Given the description of an element on the screen output the (x, y) to click on. 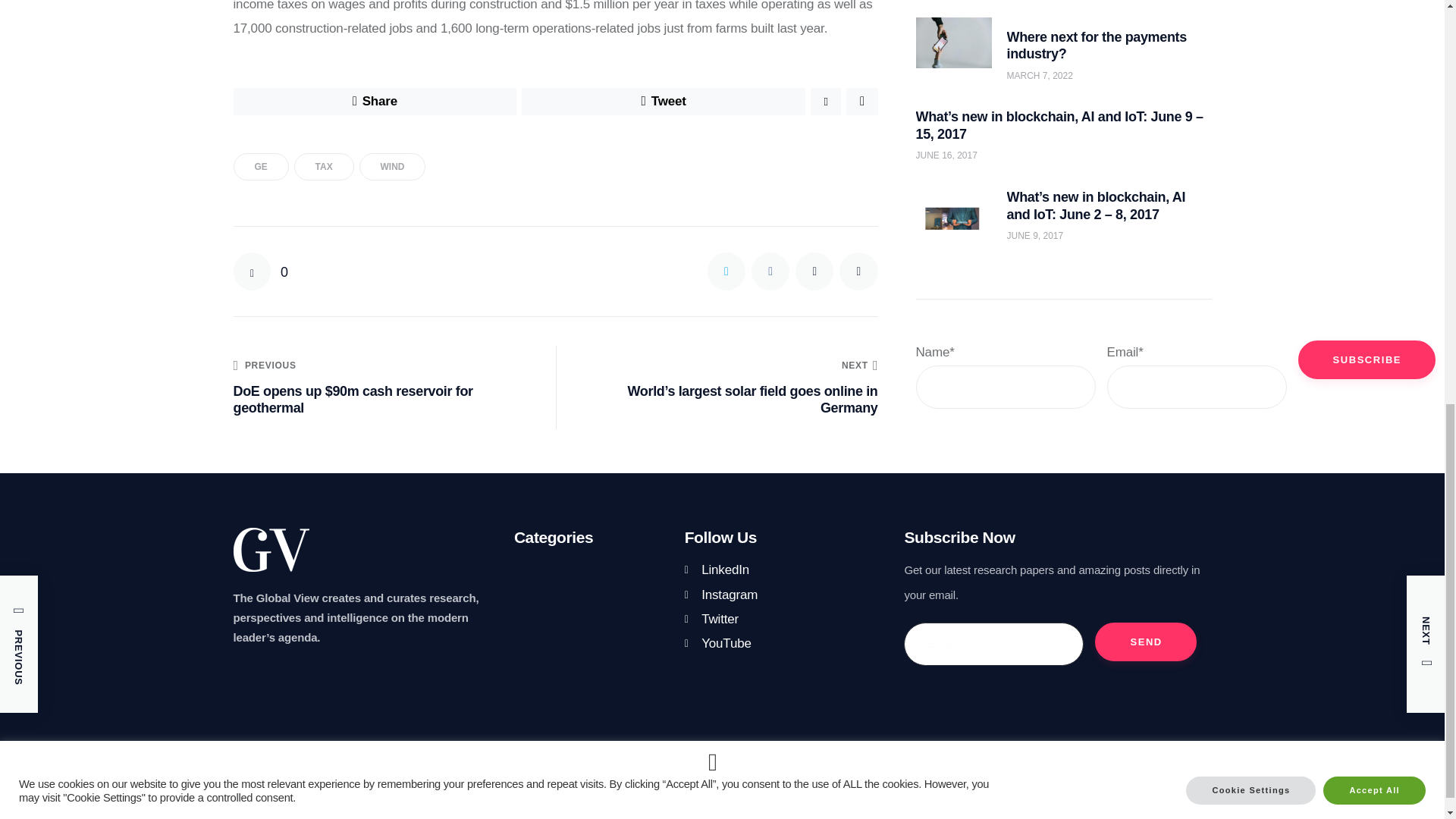
Copy URL to clipboard (858, 271)
Subscribe (1366, 213)
Like (260, 271)
Send (1144, 641)
